Given the description of an element on the screen output the (x, y) to click on. 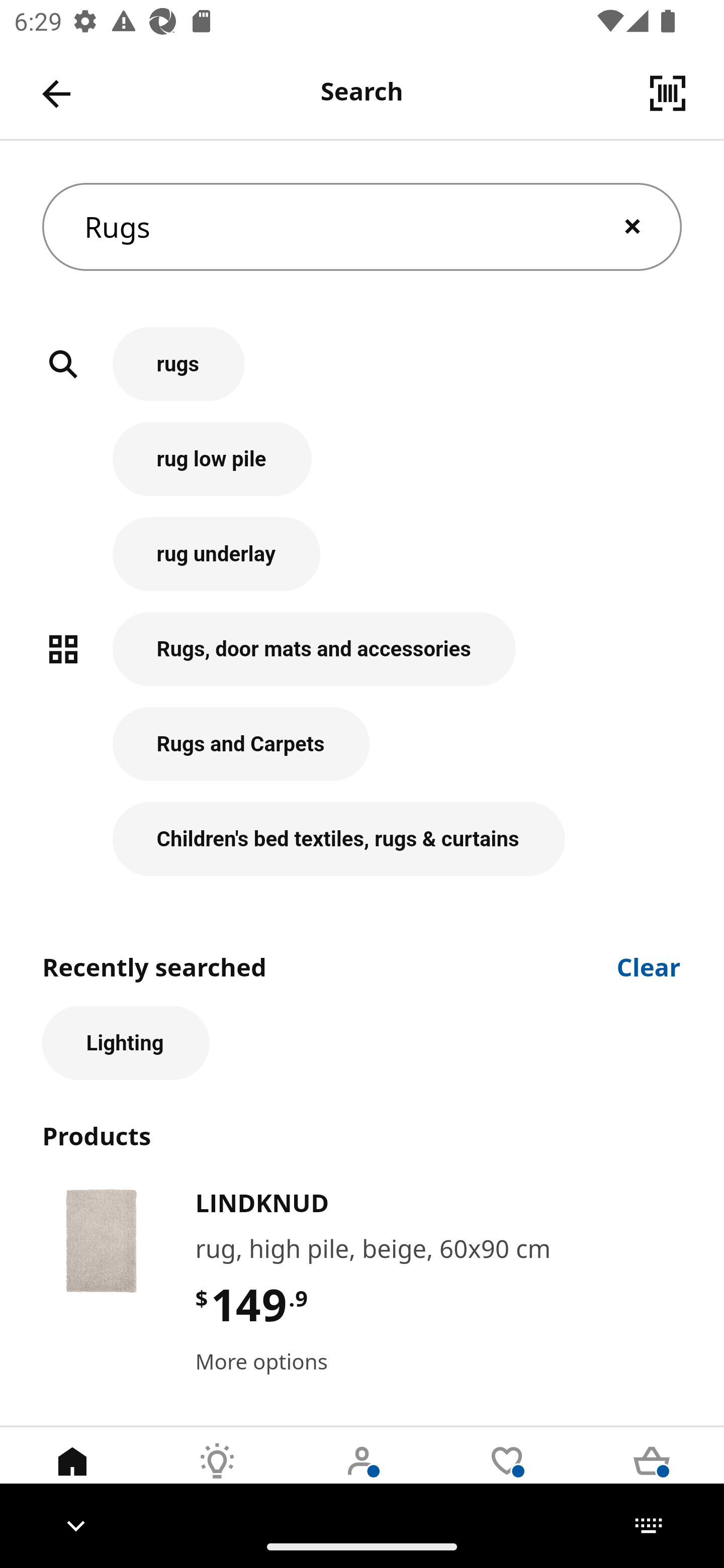
Rugs (361, 227)
rugs (361, 374)
rug low pile (361, 469)
rug underlay (361, 564)
Rugs, door mats and accessories (361, 659)
Rugs and Carpets (361, 754)
Children's bed textiles, rugs & curtains (361, 839)
Clear (649, 965)
Lighting (125, 1043)
Home
Tab 1 of 5 (72, 1476)
Inspirations
Tab 2 of 5 (216, 1476)
User
Tab 3 of 5 (361, 1476)
Wishlist
Tab 4 of 5 (506, 1476)
Cart
Tab 5 of 5 (651, 1476)
